Given the description of an element on the screen output the (x, y) to click on. 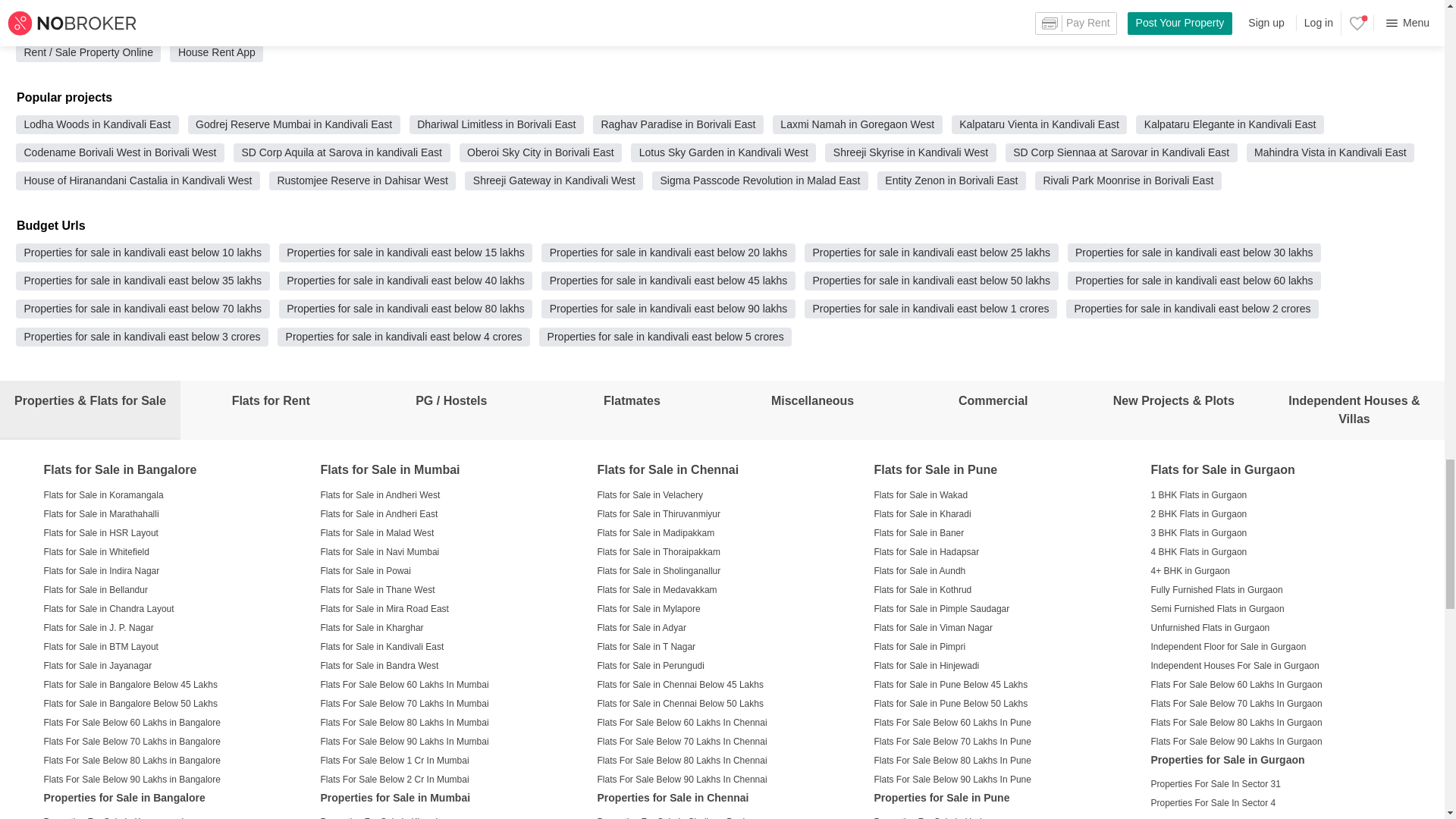
Flats For Sale Below 80 Lakhs in Bangalore (132, 760)
Flats for Sale in Chandra Layout (108, 608)
 House Rent App (216, 51)
Flats For Sale Below 60 Lakhs in Bangalore (132, 722)
Flats For Sale Below 90 Lakhs in Bangalore (132, 778)
Flats for Sale in Bellandur (95, 589)
Flats for Sale in Whitefield (96, 550)
Flats for Sale in HSR Layout (100, 532)
Flats For Sale Below 70 Lakhs in Bangalore (132, 740)
Flats for Sale in Bangalore Below 50 Lakhs (129, 703)
